Given the description of an element on the screen output the (x, y) to click on. 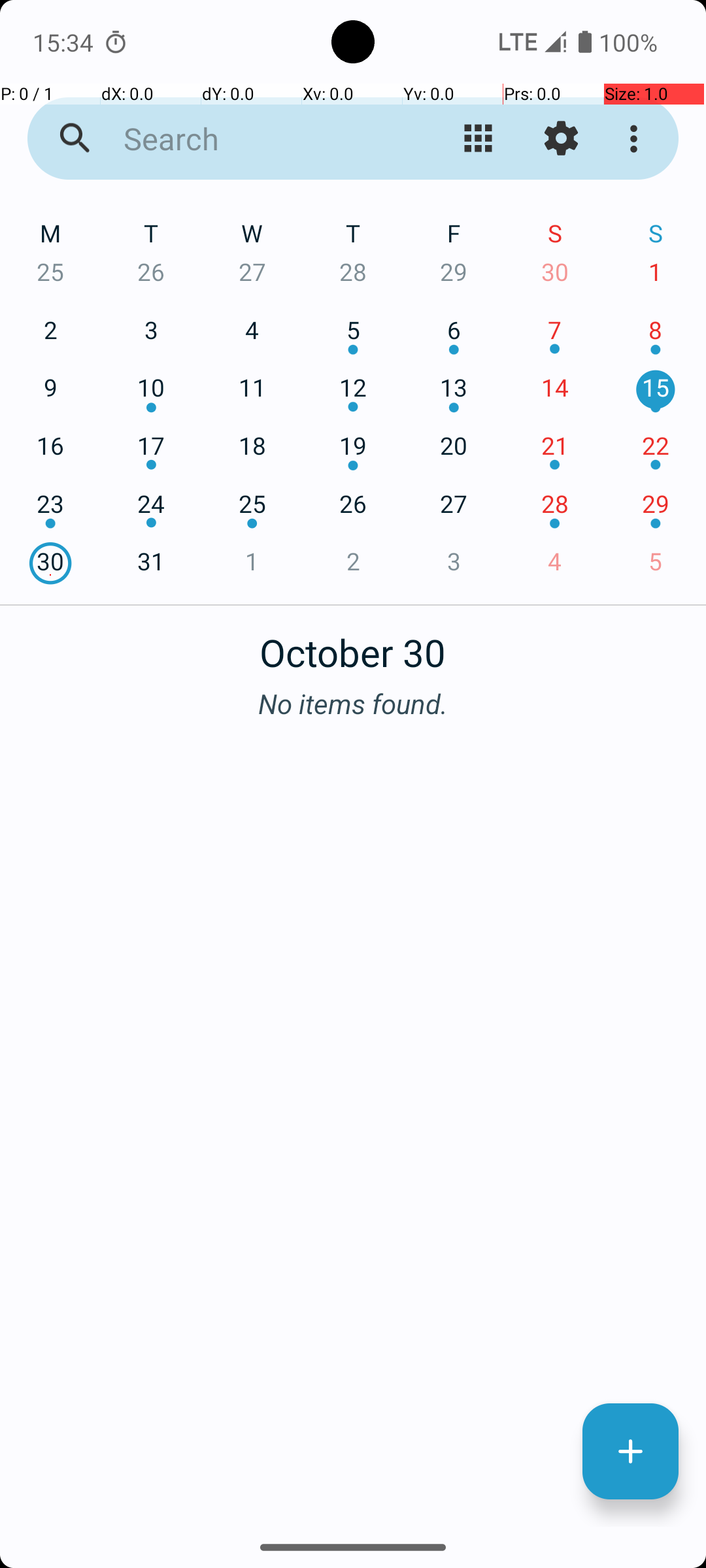
October 30 Element type: android.widget.TextView (352, 644)
